Given the description of an element on the screen output the (x, y) to click on. 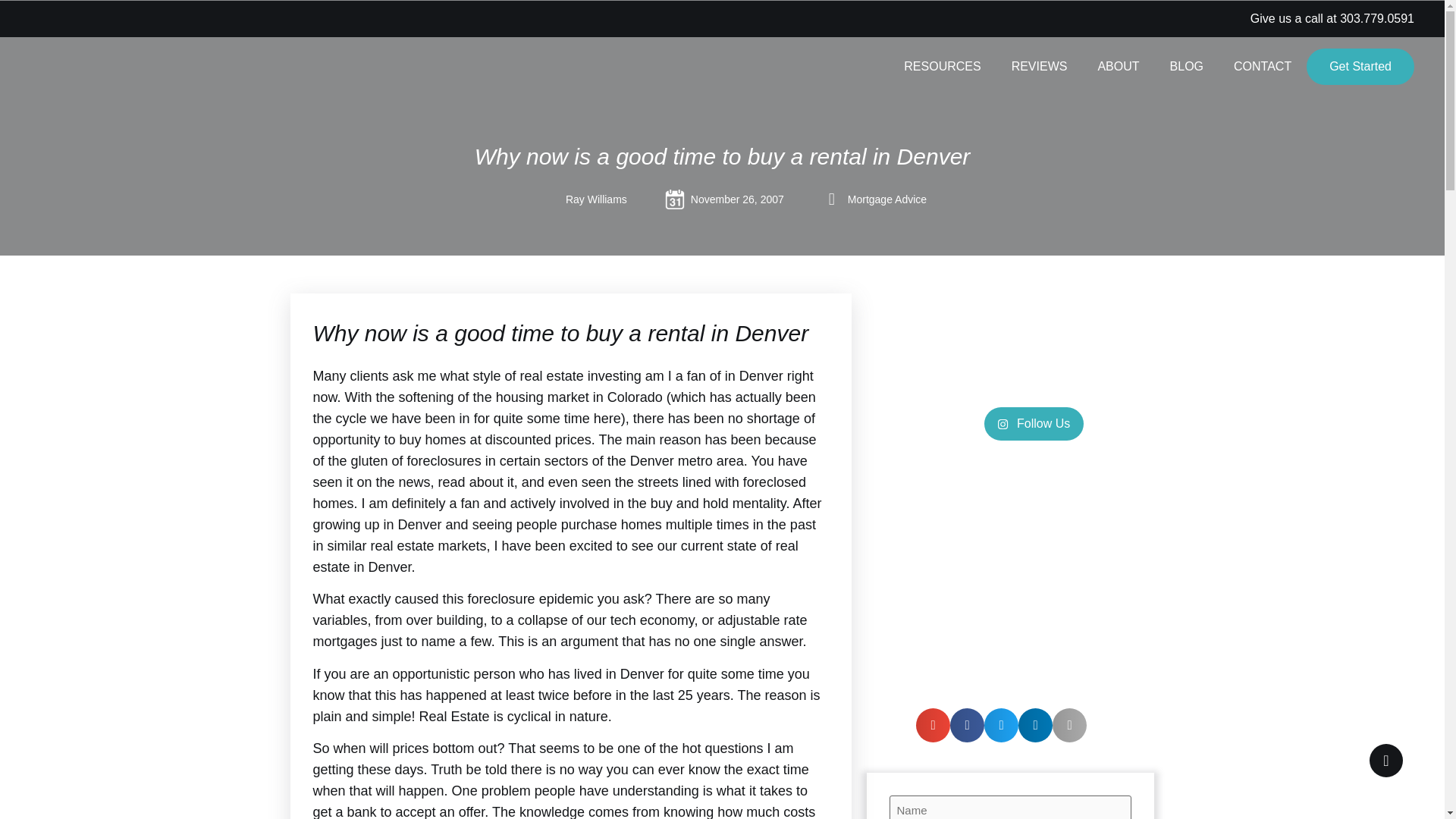
CONTACT (1262, 66)
ABOUT (1117, 66)
REVIEWS (1039, 66)
BLOG (1186, 66)
RESOURCES (941, 66)
Get Started (1359, 66)
303.779.0591 (1376, 18)
